Given the description of an element on the screen output the (x, y) to click on. 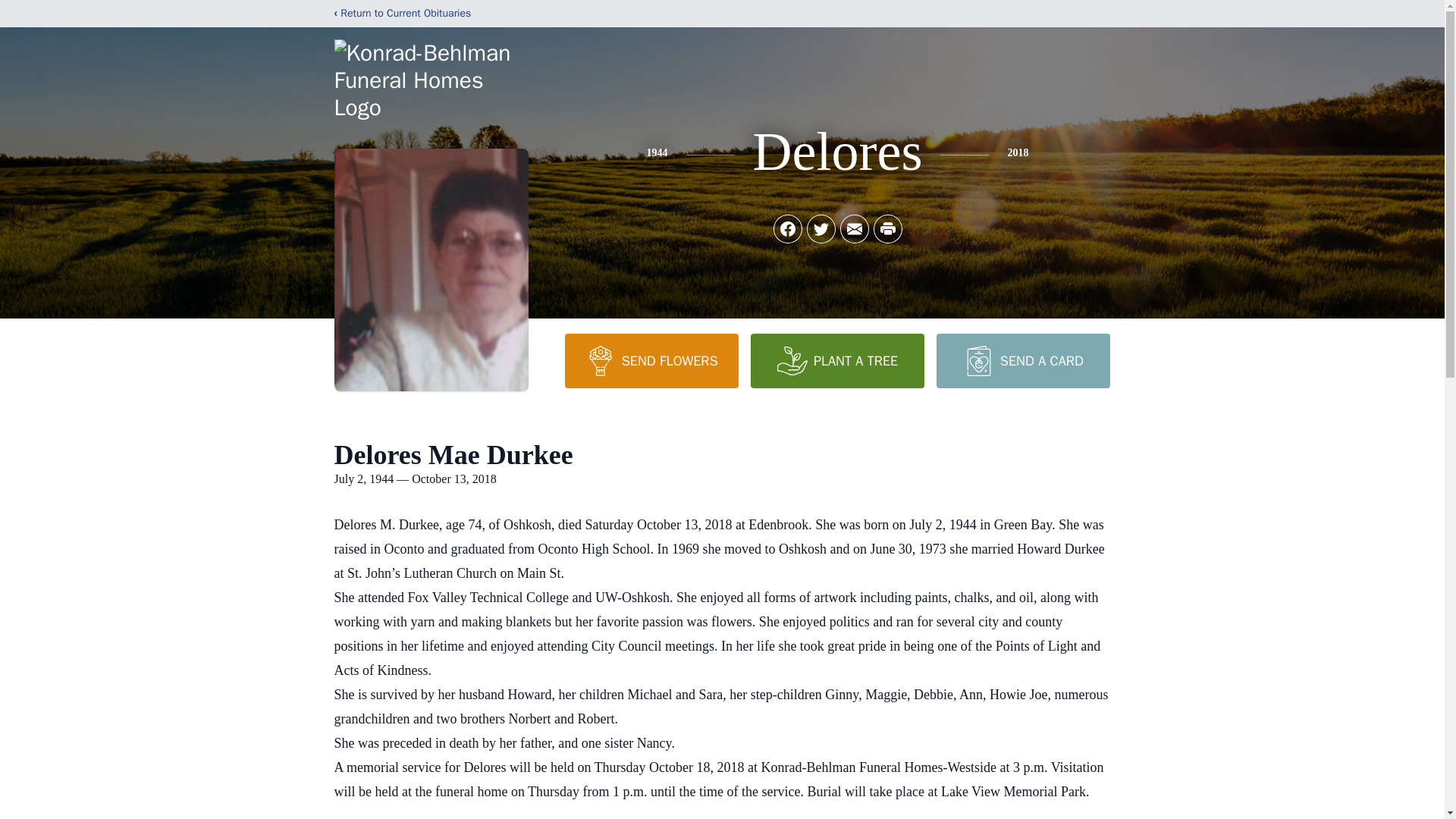
SEND FLOWERS (651, 360)
PLANT A TREE (837, 360)
SEND A CARD (1022, 360)
